Given the description of an element on the screen output the (x, y) to click on. 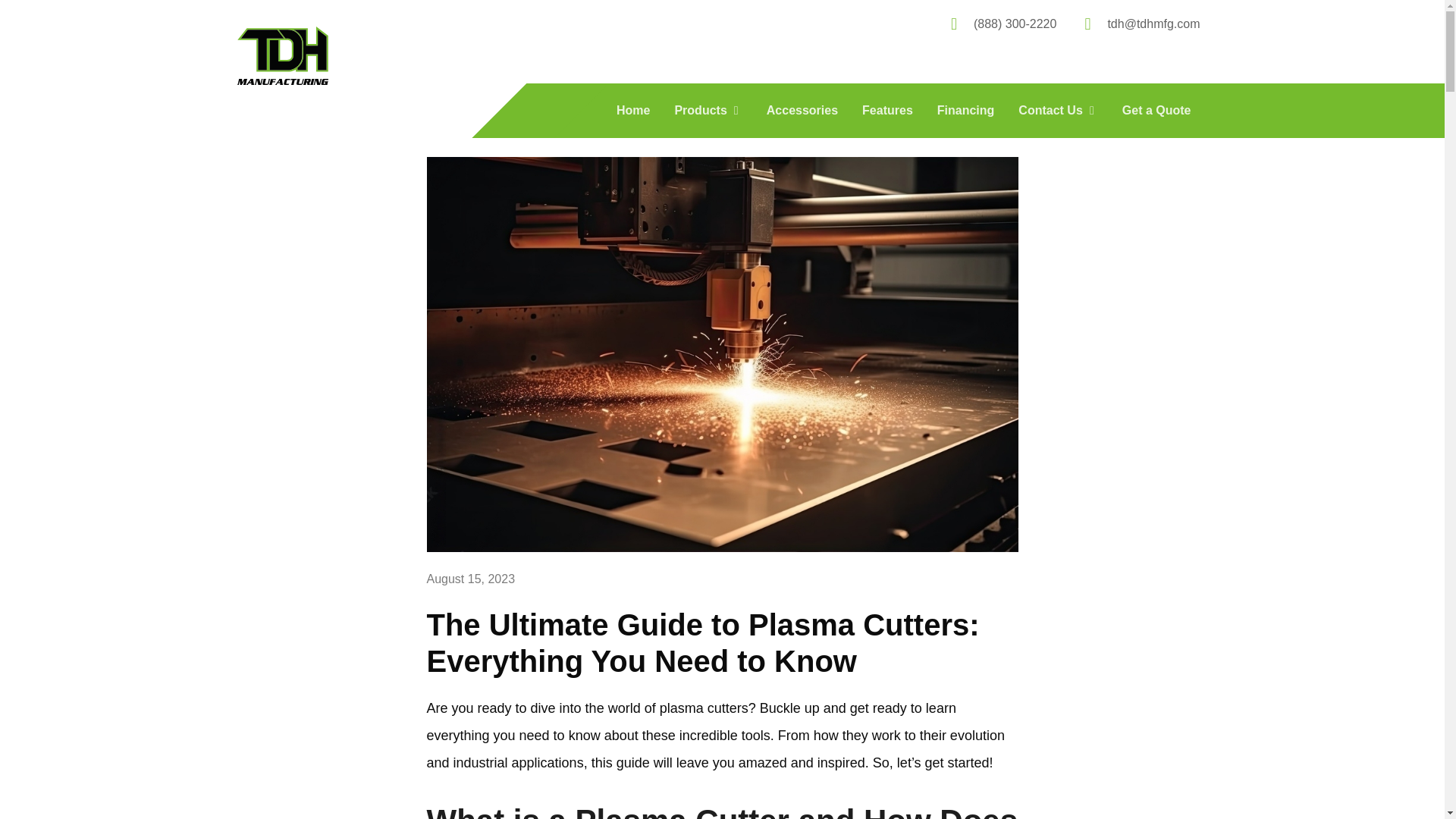
Get a Quote (1156, 110)
Products (707, 110)
Financing (965, 110)
Contact Us (1057, 110)
Features (886, 110)
Accessories (802, 110)
